Given the description of an element on the screen output the (x, y) to click on. 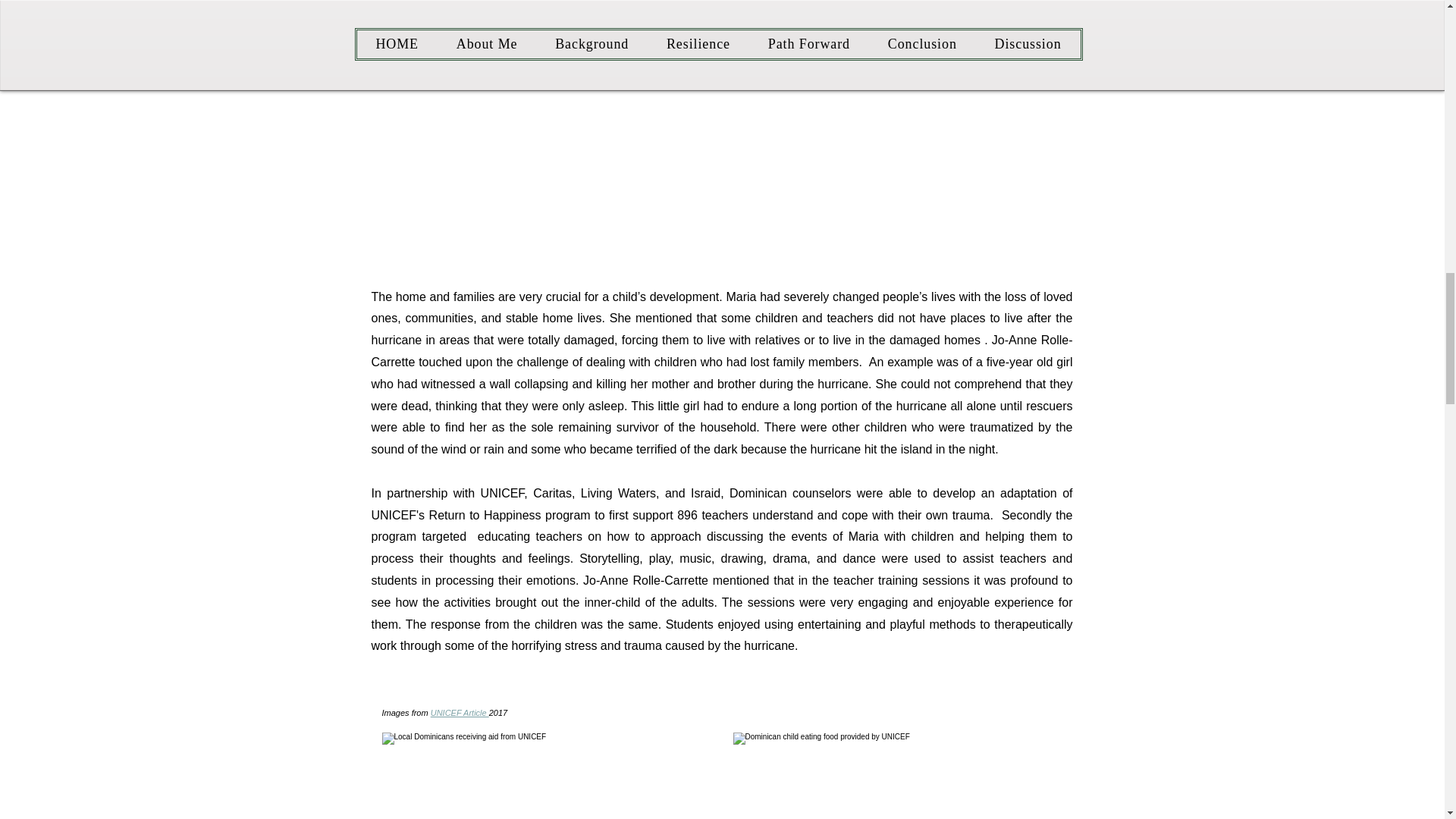
Screenshot 2023-04-12 192412.png (548, 775)
UNICEF Article  (459, 712)
